Given the description of an element on the screen output the (x, y) to click on. 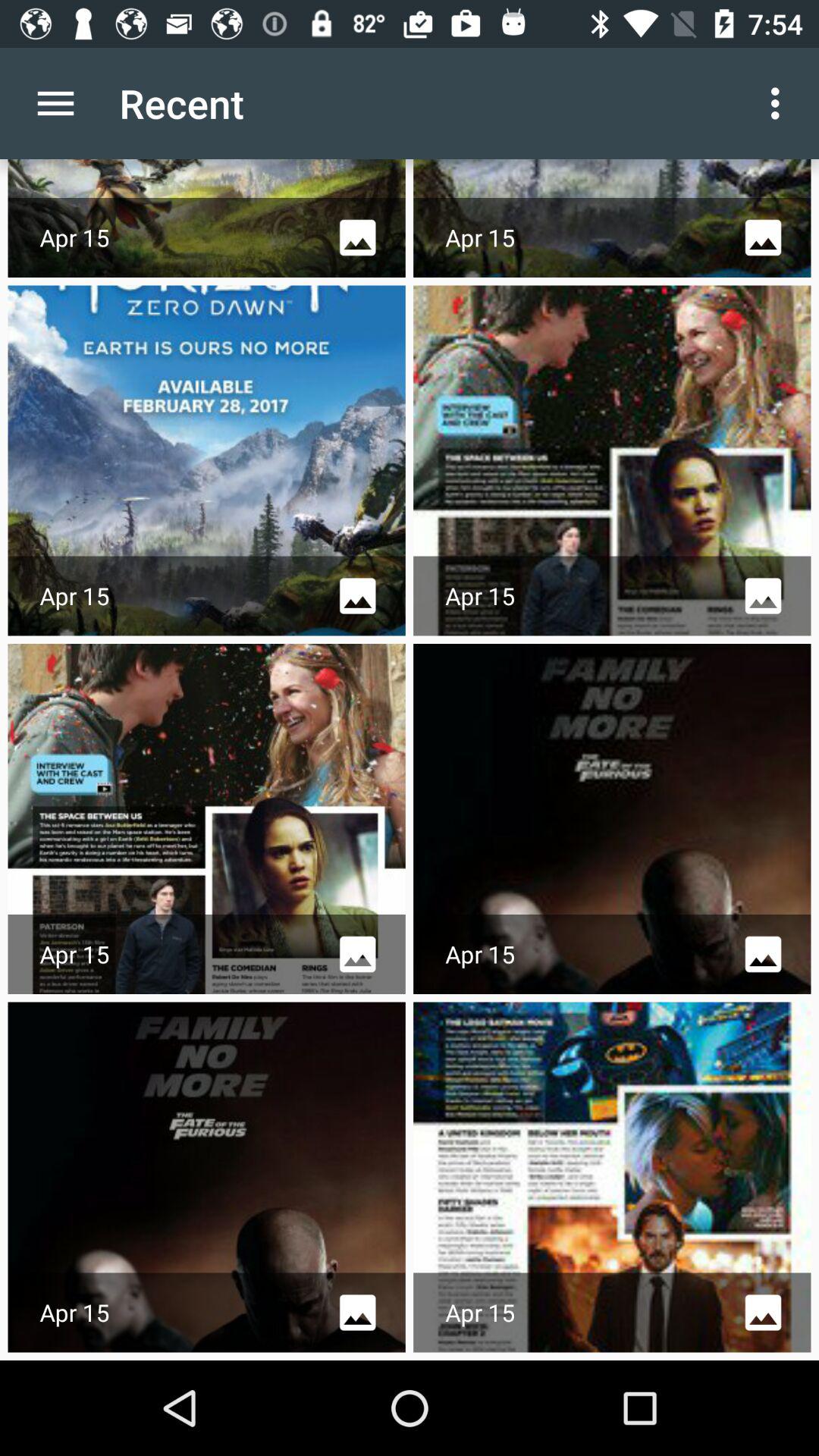
open app to the left of the recent app (55, 103)
